Given the description of an element on the screen output the (x, y) to click on. 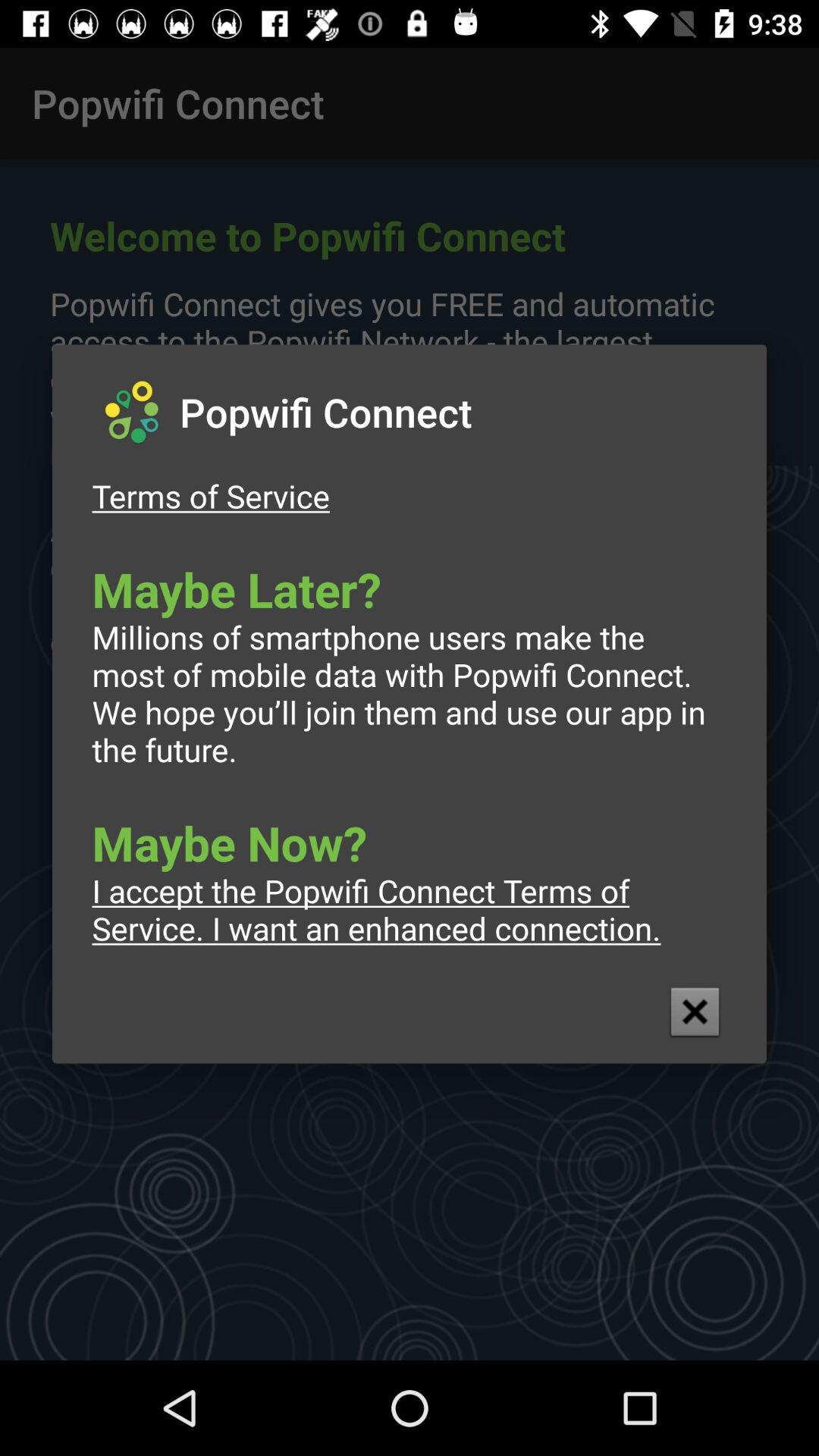
press item at the bottom right corner (694, 1011)
